Given the description of an element on the screen output the (x, y) to click on. 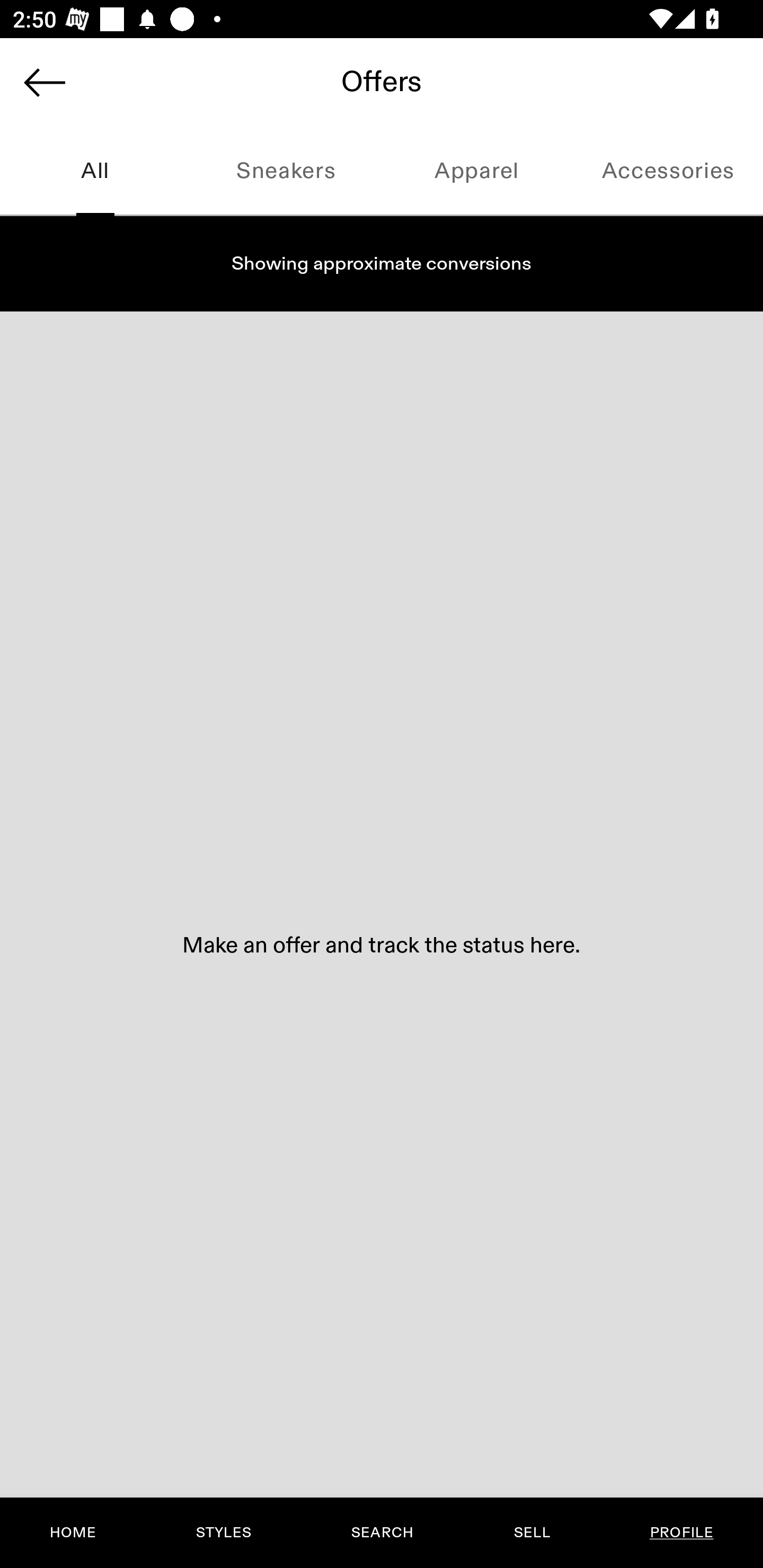
Sneakers (285, 171)
Apparel (476, 171)
Accessories (667, 171)
HOME (72, 1532)
STYLES (222, 1532)
SEARCH (381, 1532)
SELL (531, 1532)
PROFILE (681, 1532)
